Given the description of an element on the screen output the (x, y) to click on. 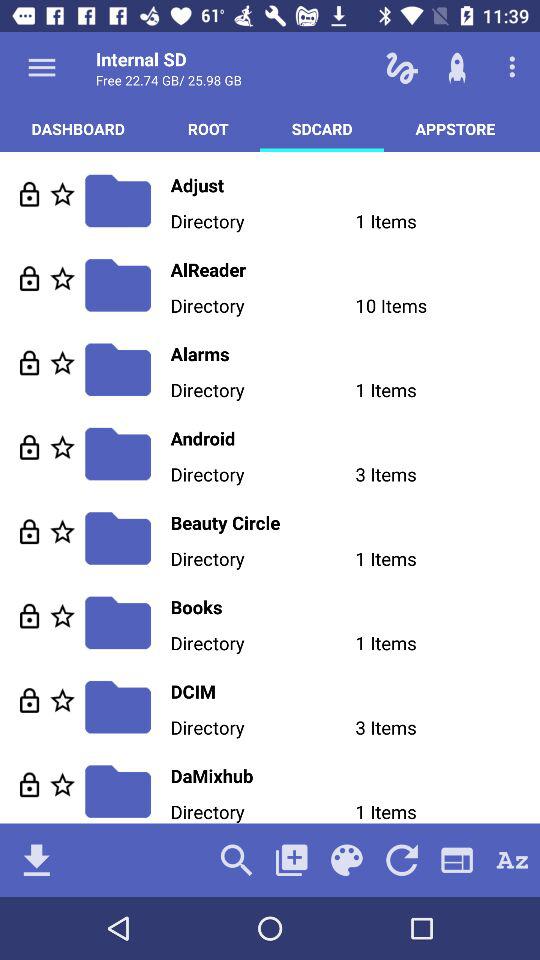
choose icon below 1 items icon (401, 859)
